Given the description of an element on the screen output the (x, y) to click on. 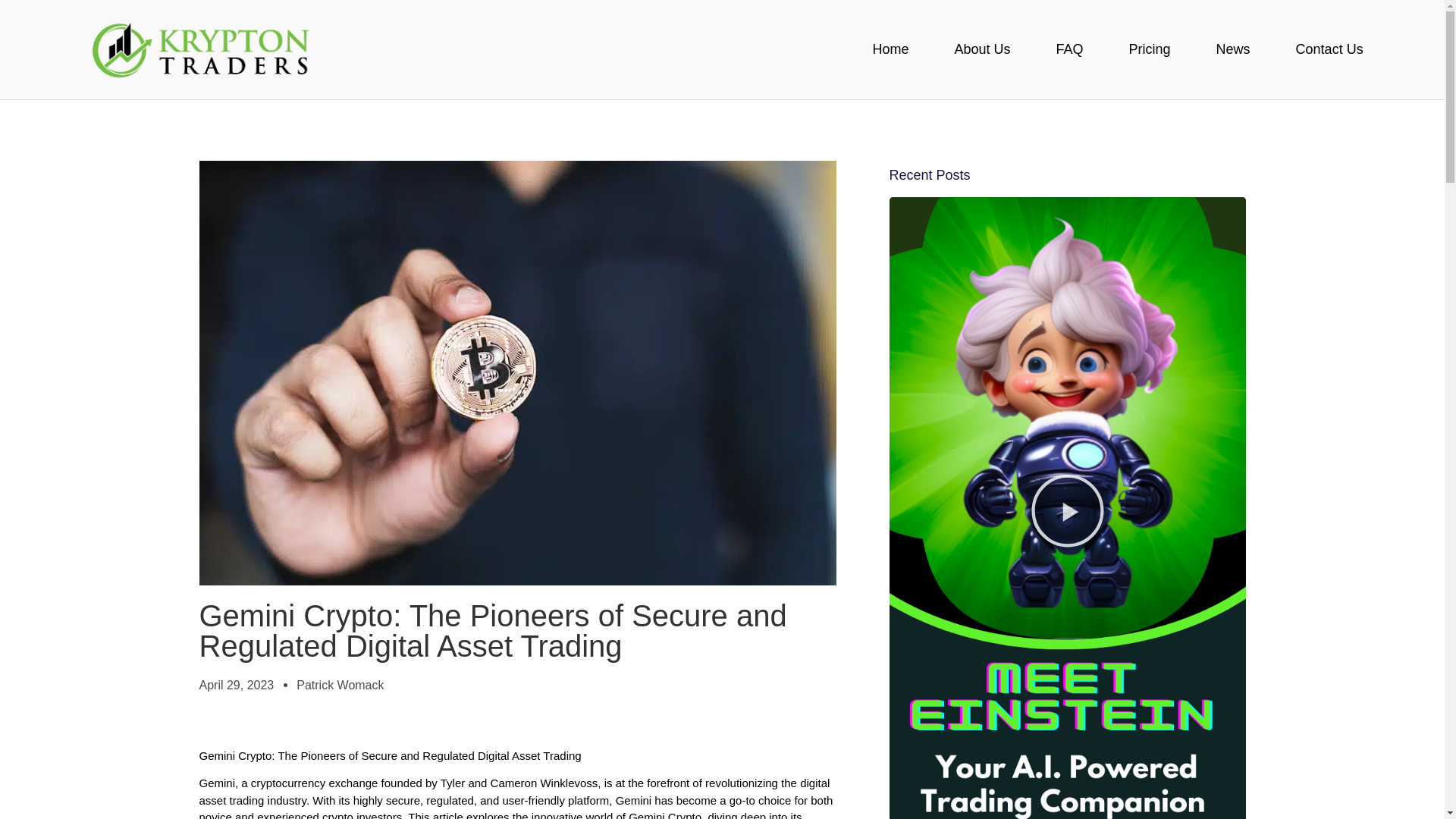
Contact Us (1329, 48)
About Us (981, 48)
Patrick Womack (340, 685)
Home (889, 48)
Pricing (1149, 48)
News (1232, 48)
FAQ (1069, 48)
April 29, 2023 (235, 685)
